Given the description of an element on the screen output the (x, y) to click on. 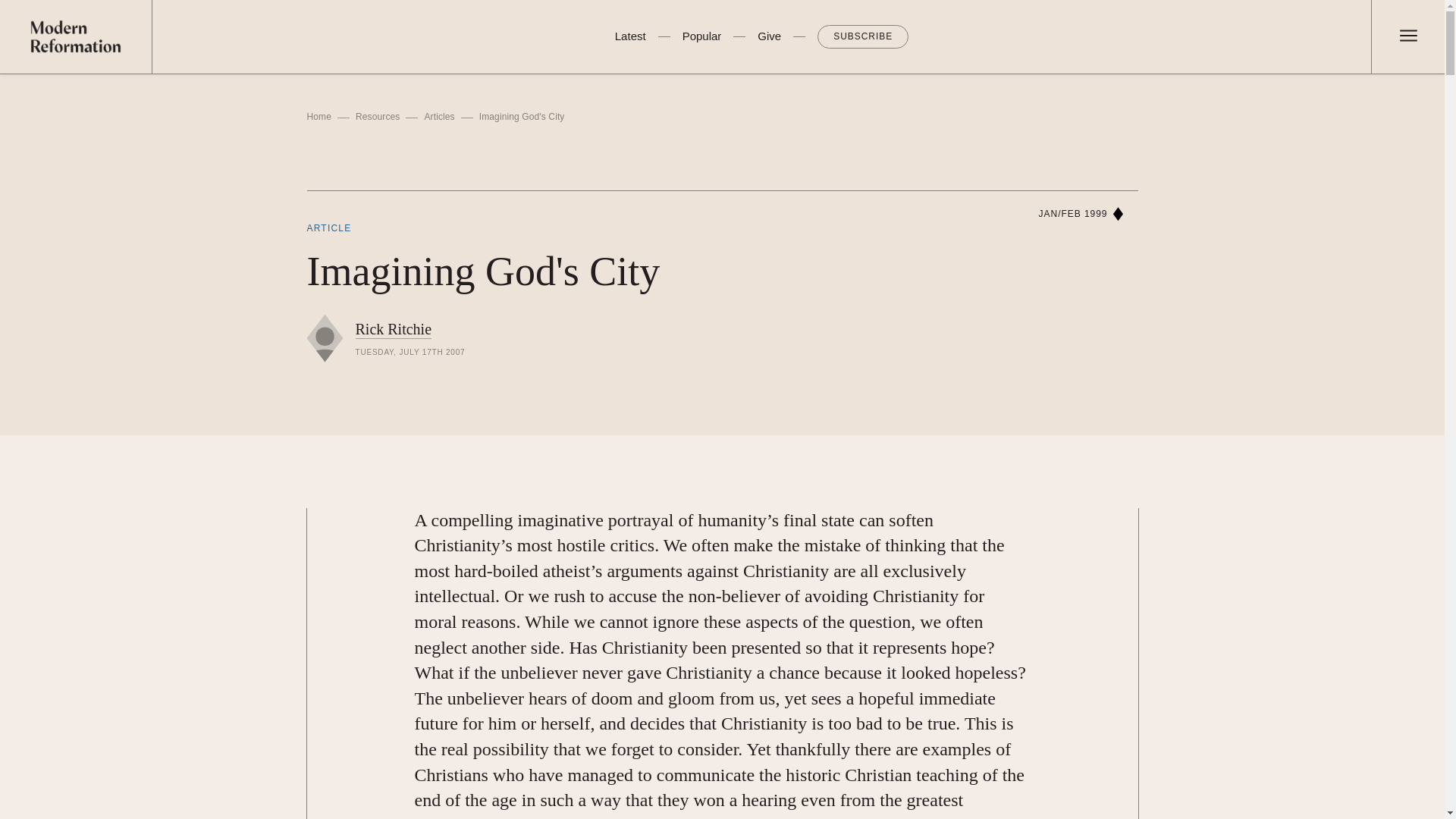
Main Menu (1407, 43)
Latest (630, 36)
Home (318, 116)
Popular (702, 36)
Rick Ritchie (392, 329)
Resources (376, 116)
Give (768, 36)
SUBSCRIBE (862, 36)
ARTICLE (327, 227)
Articles (438, 116)
